Given the description of an element on the screen output the (x, y) to click on. 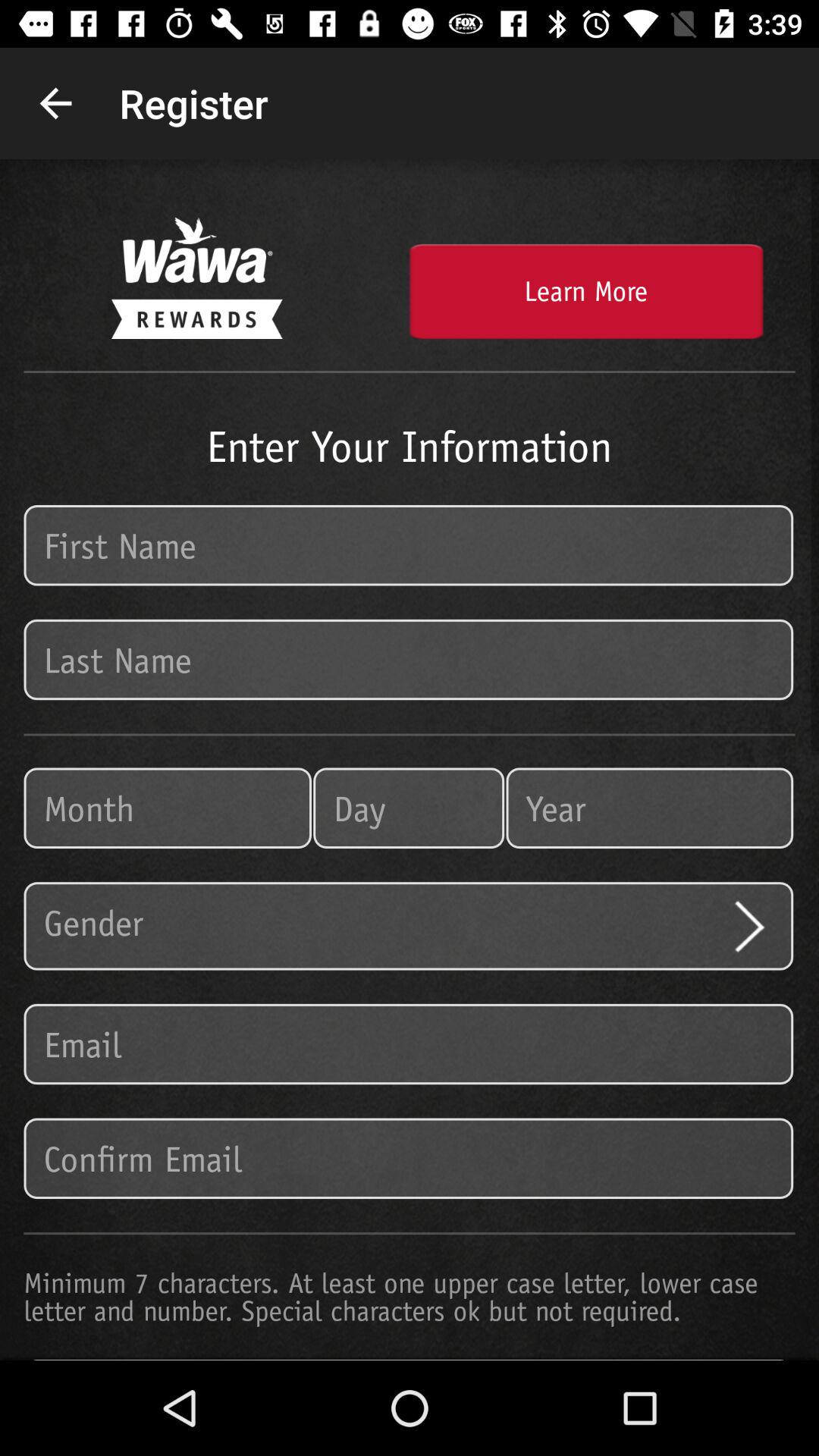
launch the item on the left (168, 808)
